Given the description of an element on the screen output the (x, y) to click on. 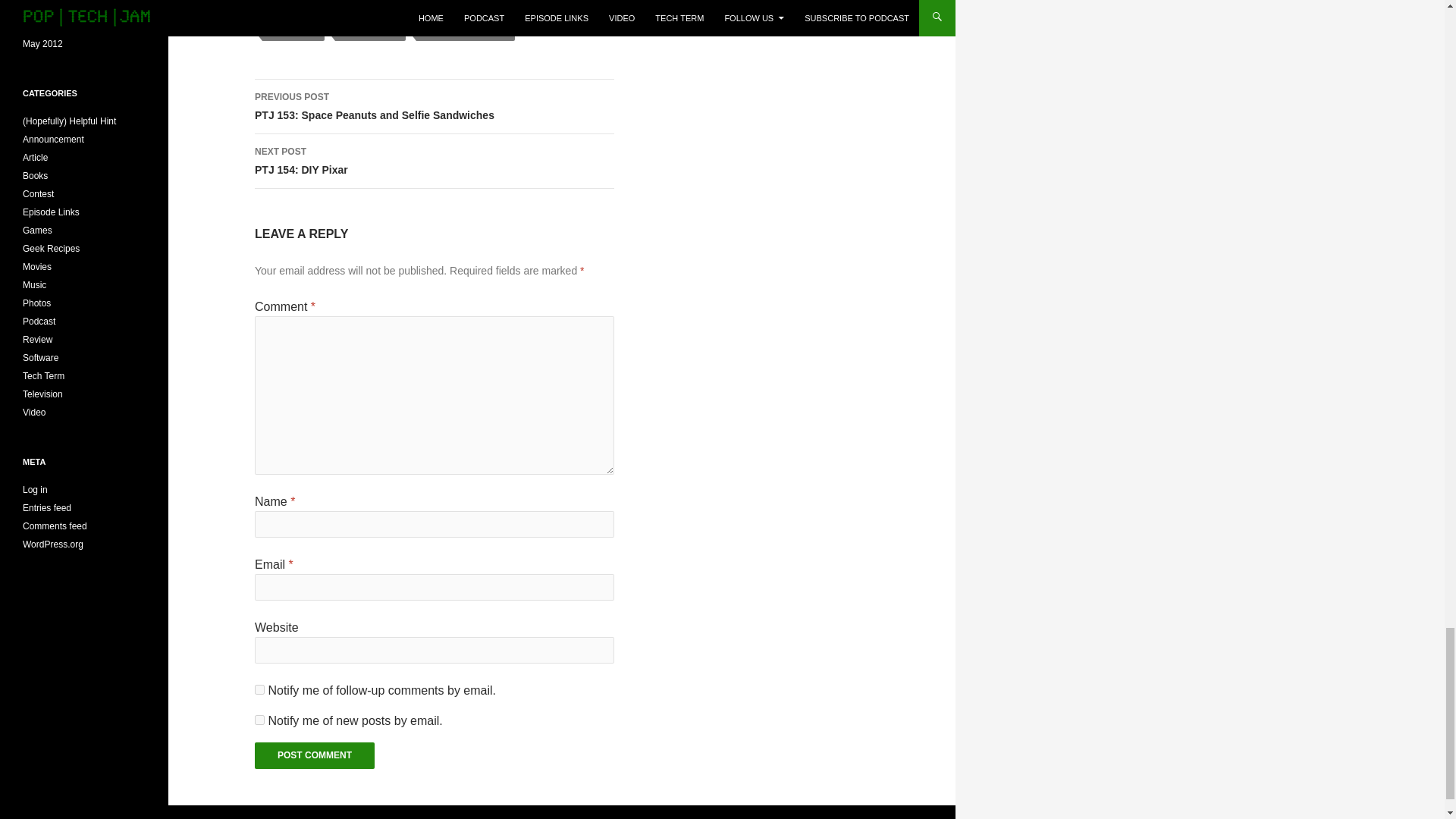
Post Comment (314, 755)
subscribe (259, 689)
subscribe (259, 719)
